Given the description of an element on the screen output the (x, y) to click on. 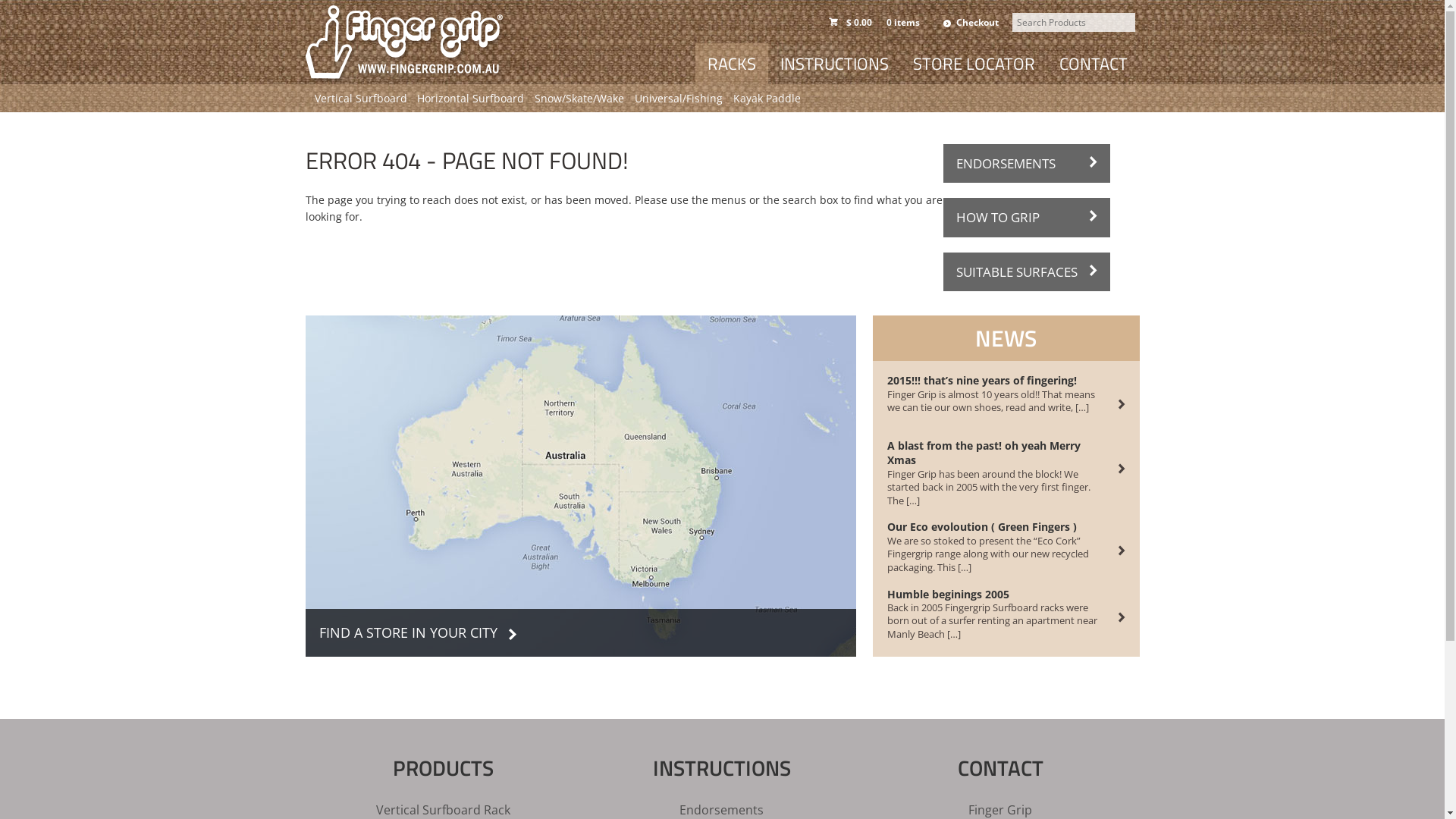
Snow/Skate/Wake Element type: text (578, 98)
Vertical Surfboard Rack Element type: text (443, 808)
Horizontal Surfboard Element type: text (470, 98)
FIND A STORE IN YOUR CITY Element type: text (579, 485)
RACKS Element type: text (730, 63)
Universal/Fishing Element type: text (678, 98)
CONTACT Element type: text (1092, 63)
$ 0.000 items Element type: text (876, 22)
Checkout Element type: text (970, 23)
Kayak Paddle Element type: text (766, 98)
STORE LOCATOR Element type: text (973, 63)
Vertical Surfboard Element type: text (360, 98)
INSTRUCTIONS Element type: text (833, 63)
Search Element type: text (159, 12)
ENDORSEMENTS Element type: text (1026, 163)
SUITABLE SURFACES Element type: text (1026, 271)
Endorsements Element type: text (721, 808)
HOW TO GRIP Element type: text (1026, 216)
